Given the description of an element on the screen output the (x, y) to click on. 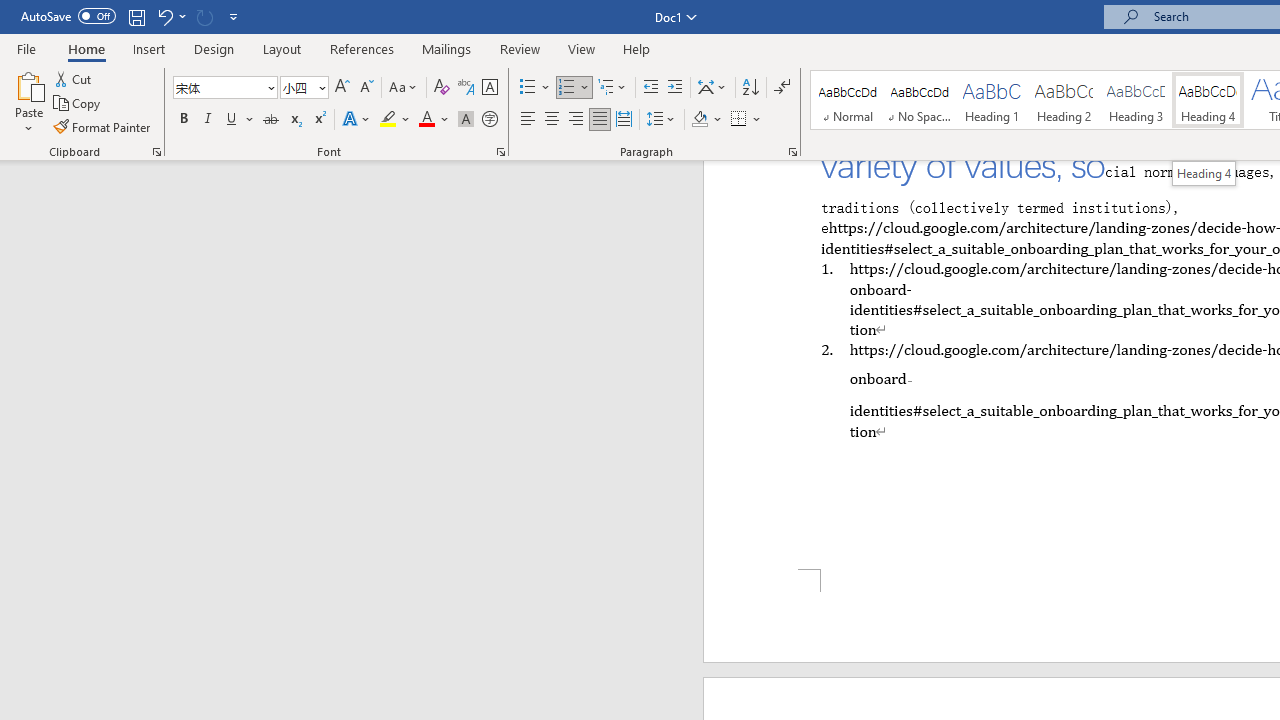
Shading RGB(0, 0, 0) (699, 119)
Mailings (447, 48)
Help (637, 48)
Distributed (623, 119)
Undo Apply Quick Style (164, 15)
Grow Font (342, 87)
